Given the description of an element on the screen output the (x, y) to click on. 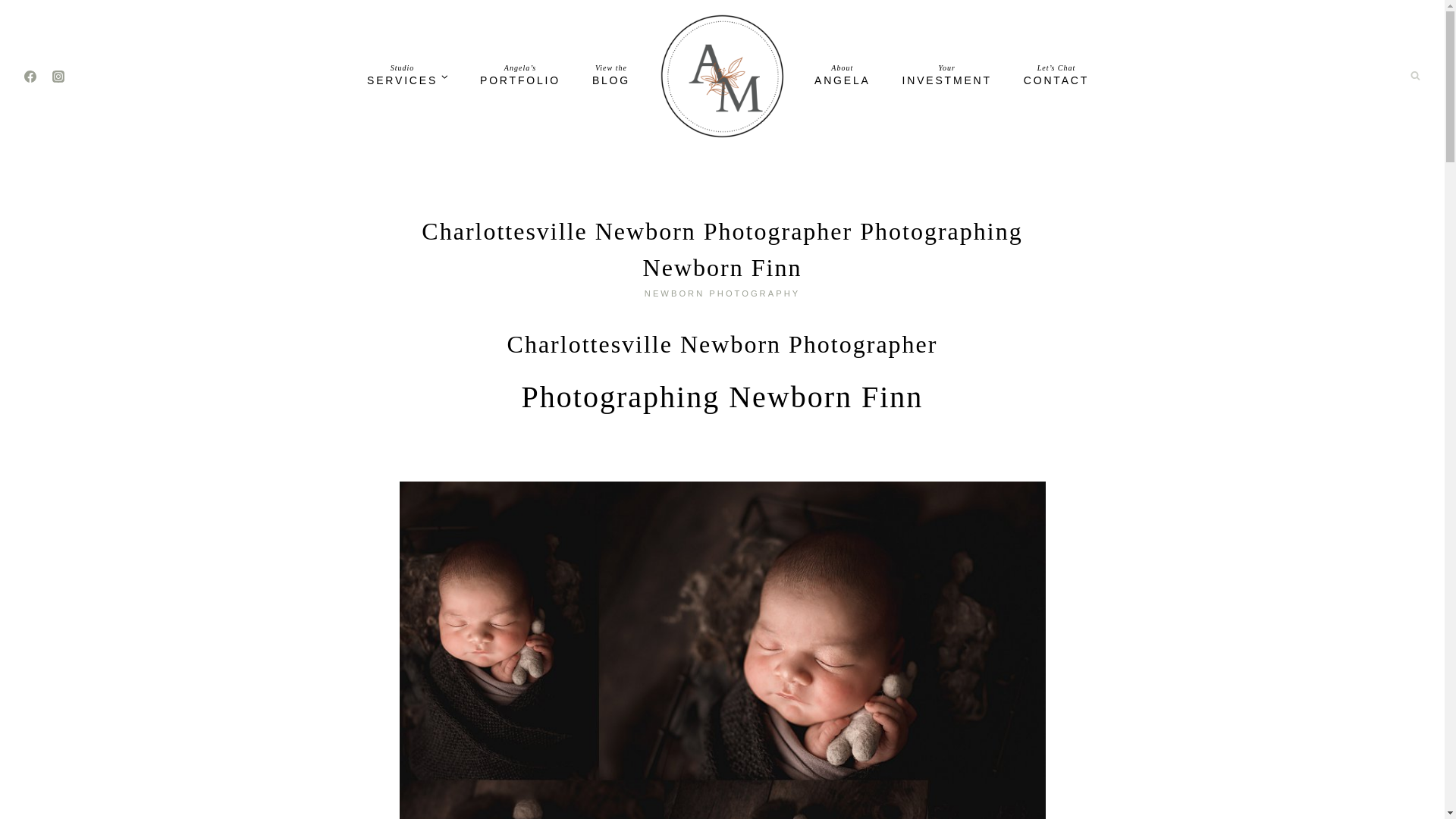
NEWBORN PHOTOGRAPHY (722, 293)
